Given the description of an element on the screen output the (x, y) to click on. 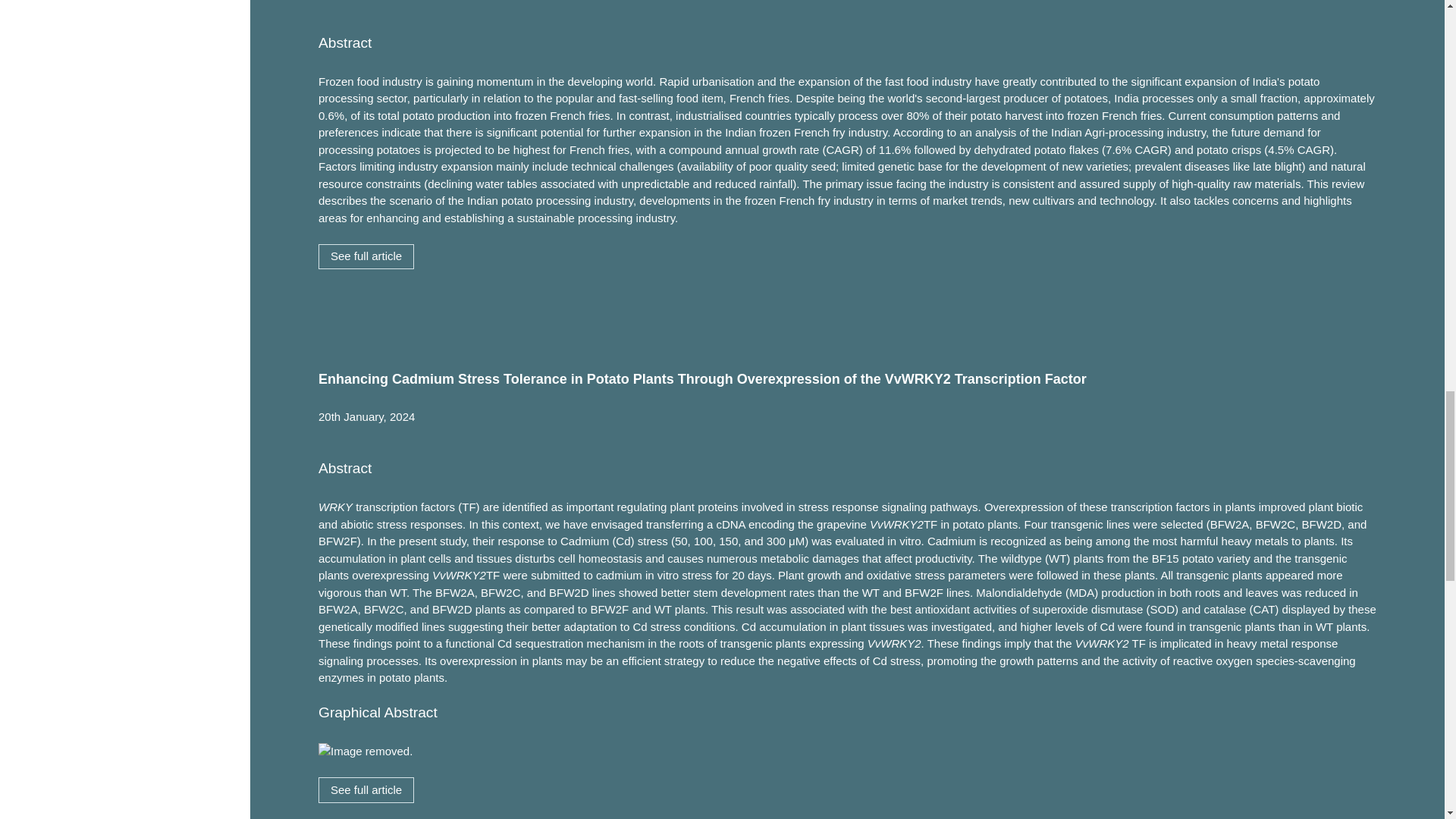
See full article (365, 257)
See full article (365, 790)
